Given the description of an element on the screen output the (x, y) to click on. 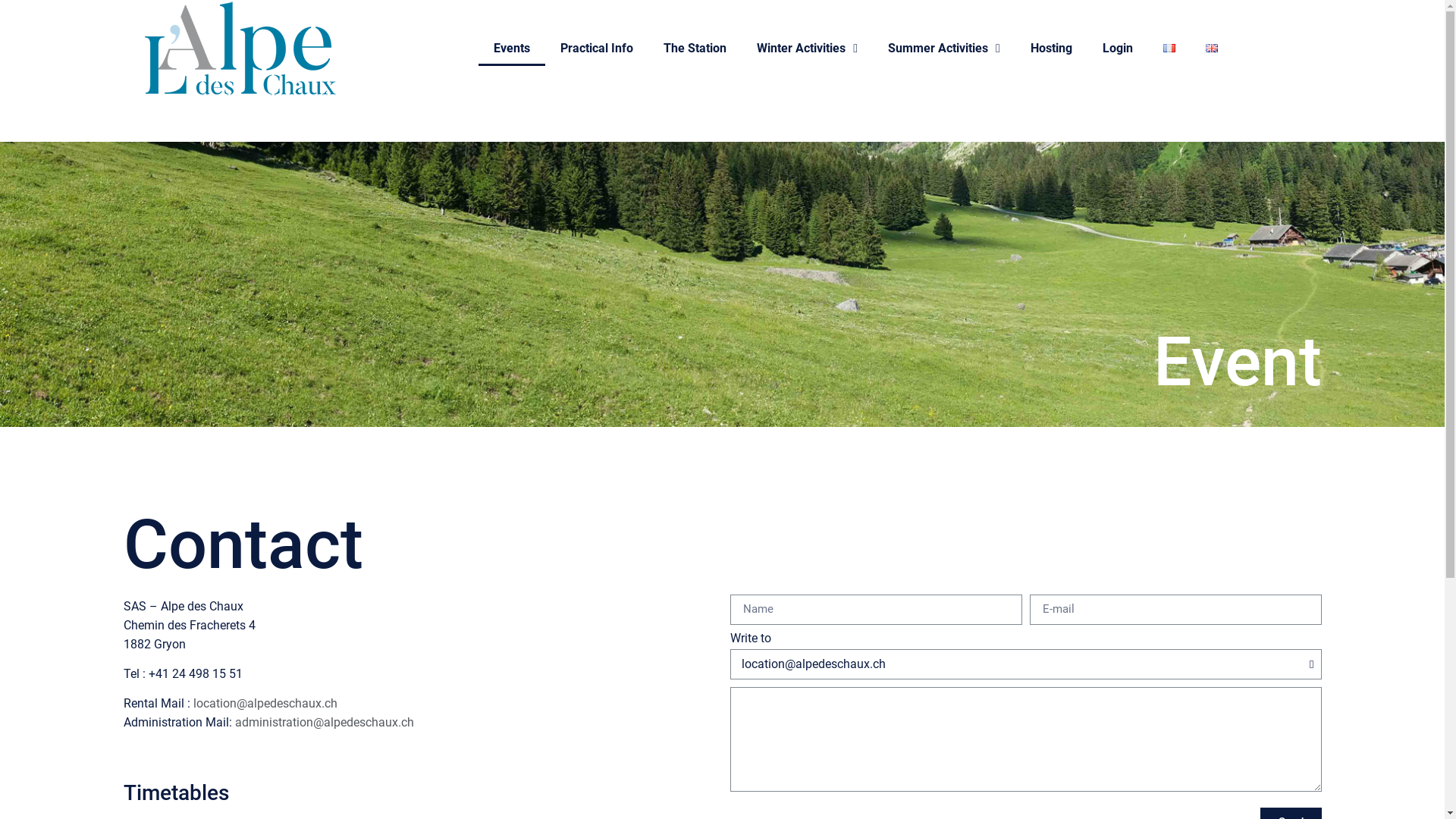
location@alpedeschaux.ch Element type: text (264, 703)
administration@alpedeschaux.ch Element type: text (324, 722)
Winter Activities Element type: text (806, 47)
Events Element type: text (511, 47)
Summer Activities Element type: text (943, 47)
Practical Info Element type: text (596, 47)
Hosting Element type: text (1051, 47)
Login Element type: text (1117, 47)
The Station Element type: text (694, 47)
